Given the description of an element on the screen output the (x, y) to click on. 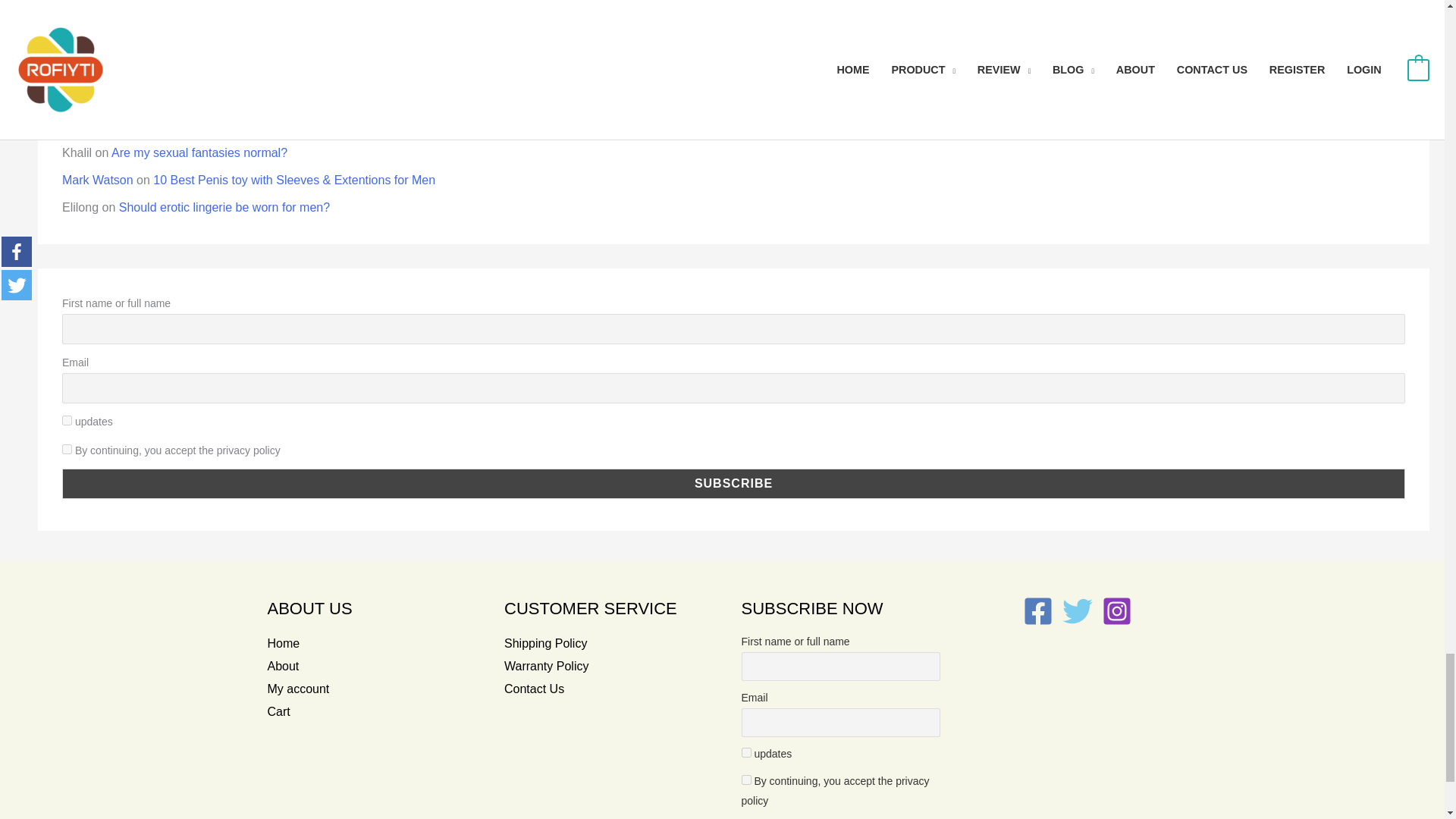
Subscribe (733, 483)
on (66, 449)
3 (66, 420)
3 (746, 752)
on (746, 779)
